Given the description of an element on the screen output the (x, y) to click on. 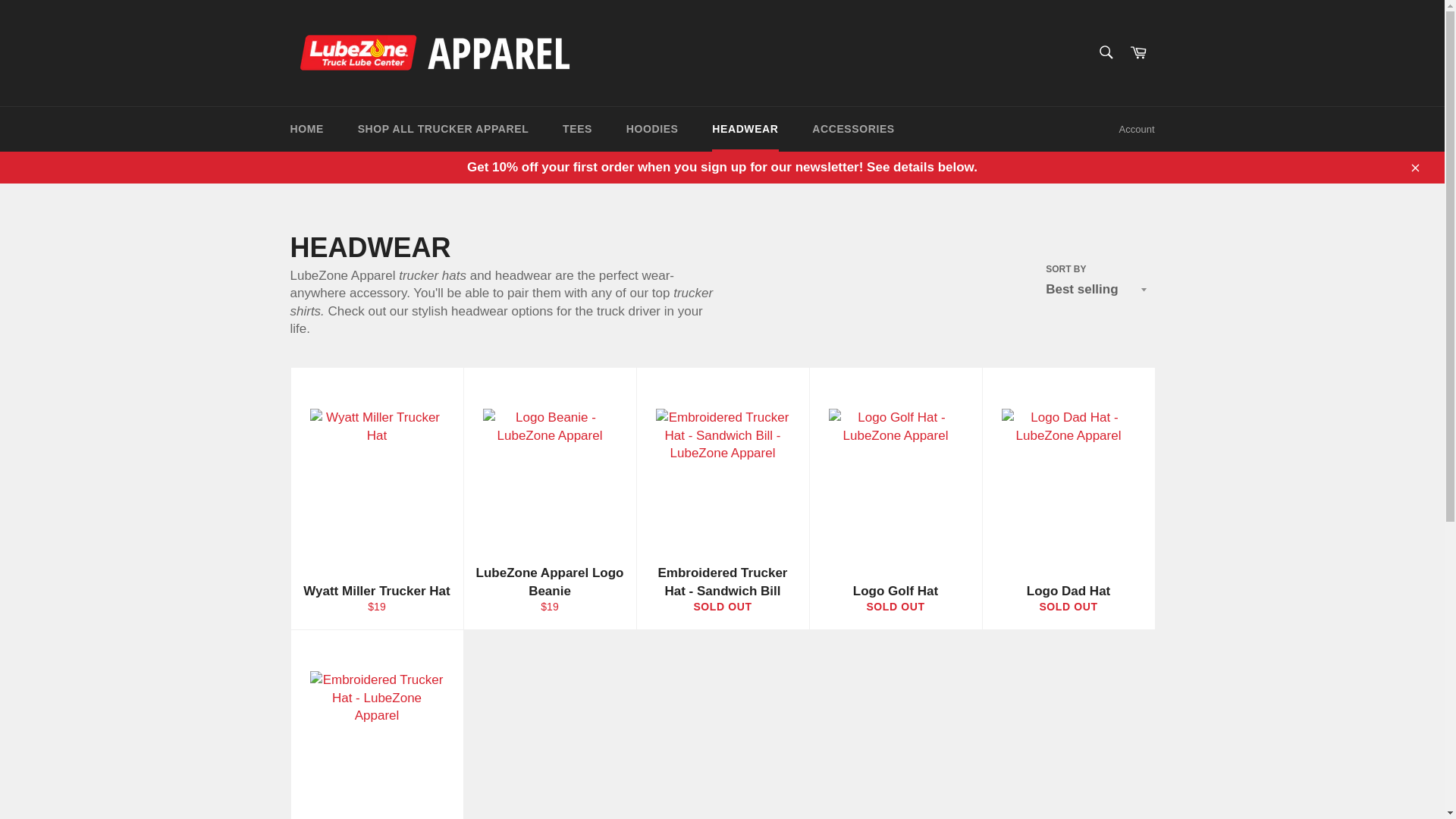
ACCESSORIES (853, 129)
HEADWEAR (745, 129)
Cart (1138, 53)
HOODIES (652, 129)
Close (1414, 166)
TEES (577, 129)
Account (1136, 129)
Search (1104, 51)
SHOP ALL TRUCKER APPAREL (895, 598)
HOME (722, 589)
